Given the description of an element on the screen output the (x, y) to click on. 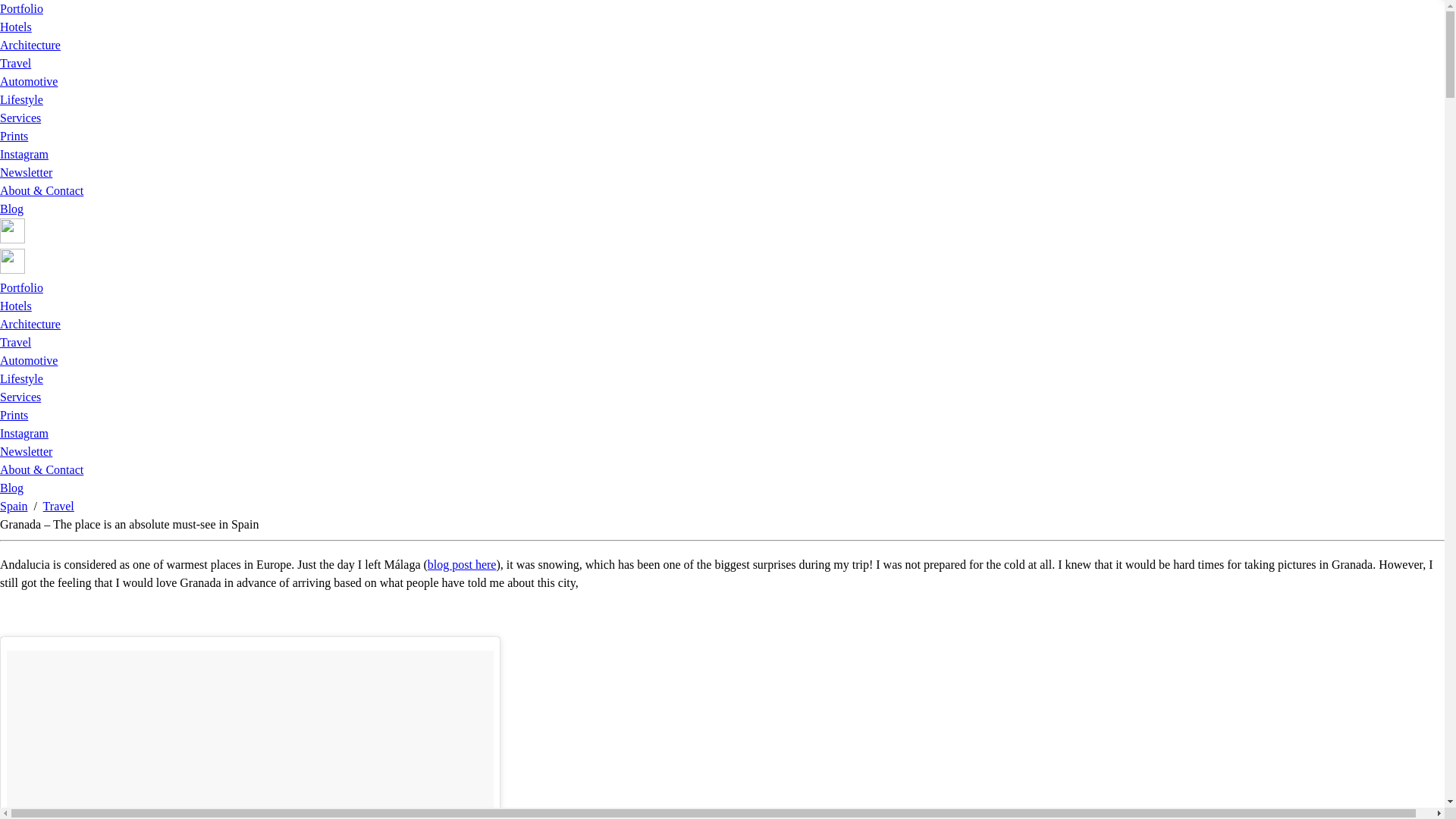
Travel (58, 505)
Lifestyle (21, 378)
blog post here (462, 563)
Travel (15, 341)
Hotels (16, 26)
Services (20, 117)
Automotive (29, 359)
Prints (13, 414)
Architecture (30, 323)
Automotive (29, 81)
Portfolio (21, 8)
Blog (11, 208)
Travel (15, 62)
Architecture (30, 44)
Prints (13, 135)
